Given the description of an element on the screen output the (x, y) to click on. 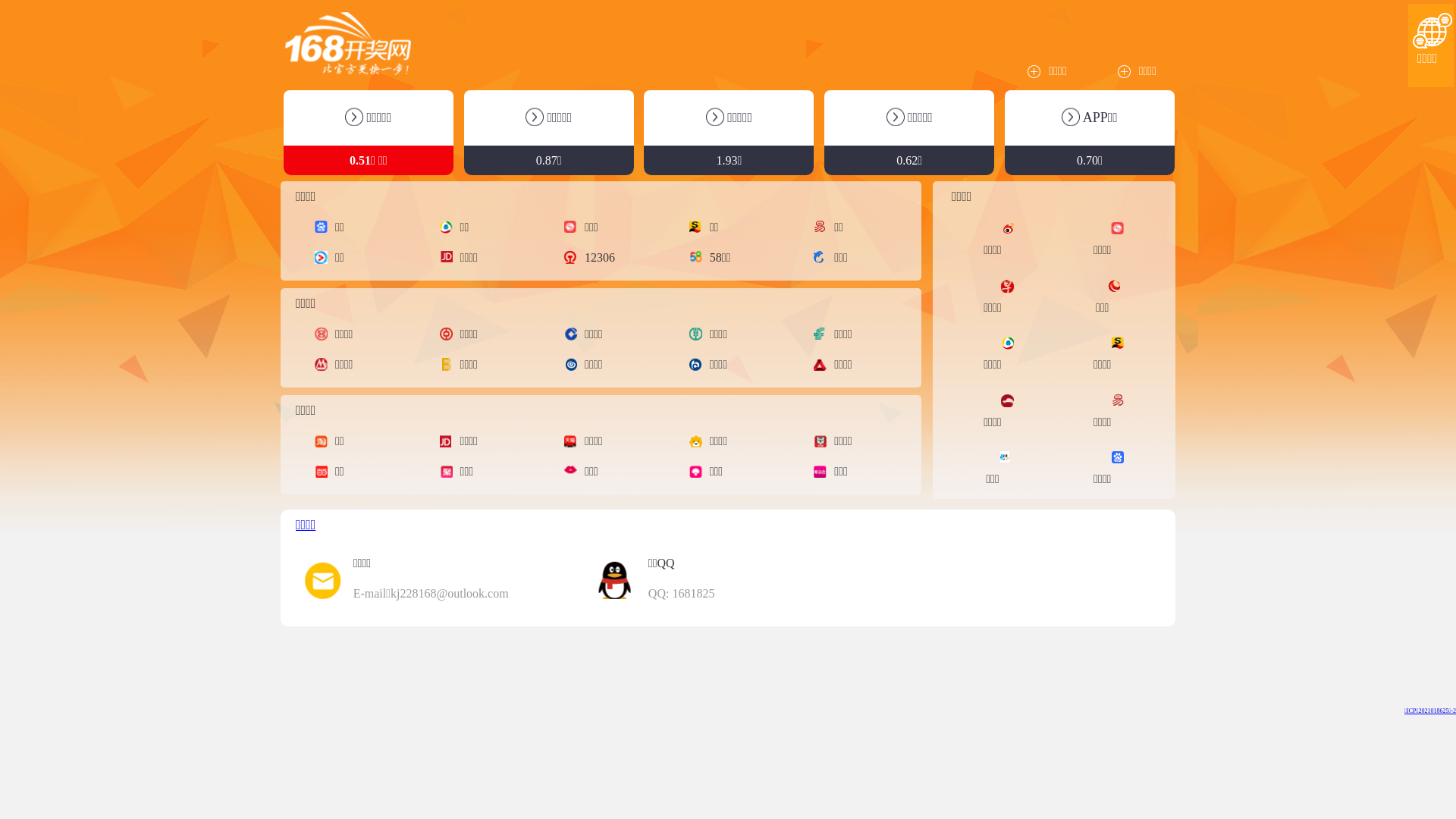
12306 Element type: text (593, 257)
